Given the description of an element on the screen output the (x, y) to click on. 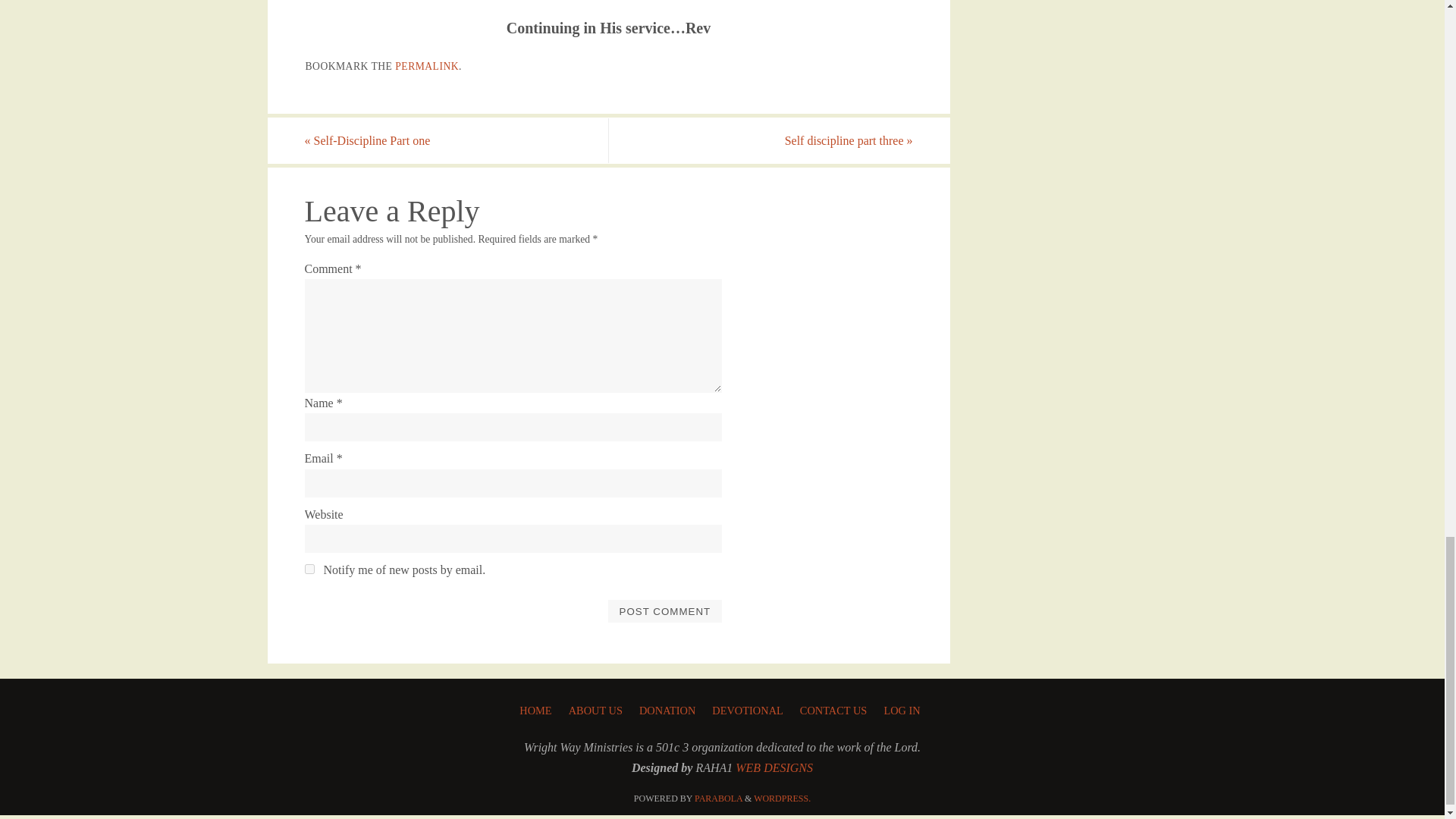
subscribe (309, 569)
Parabola Theme by Cryout Creations (718, 798)
Post Comment (664, 610)
Permalink to Self-Discipline Part two (426, 66)
PERMALINK (426, 66)
Semantic Personal Publishing Platform (782, 798)
Post Comment (664, 610)
